Given the description of an element on the screen output the (x, y) to click on. 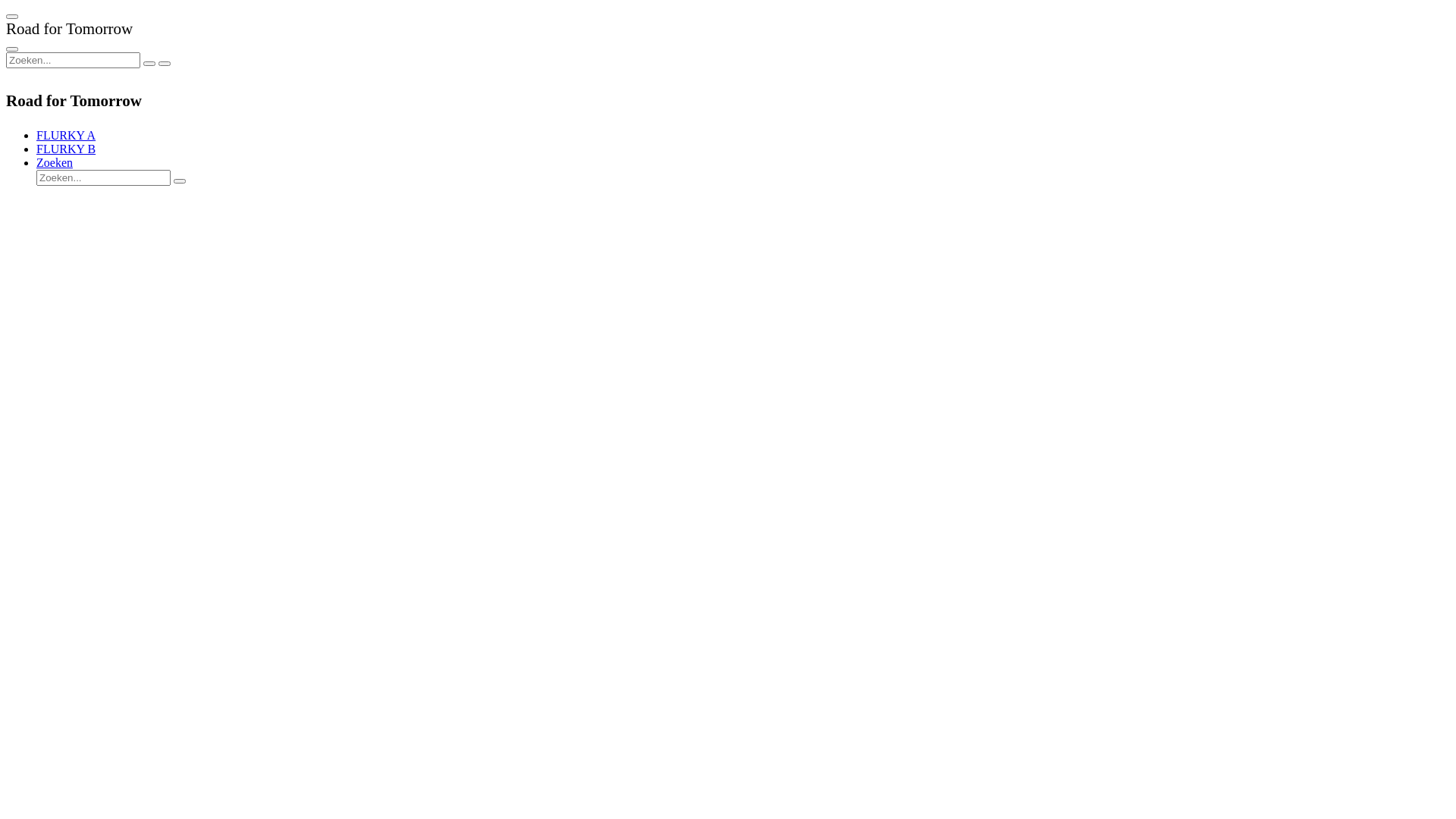
Zoeken Element type: text (54, 162)
FLURKY A Element type: text (65, 134)
FLURKY B Element type: text (65, 148)
